Given the description of an element on the screen output the (x, y) to click on. 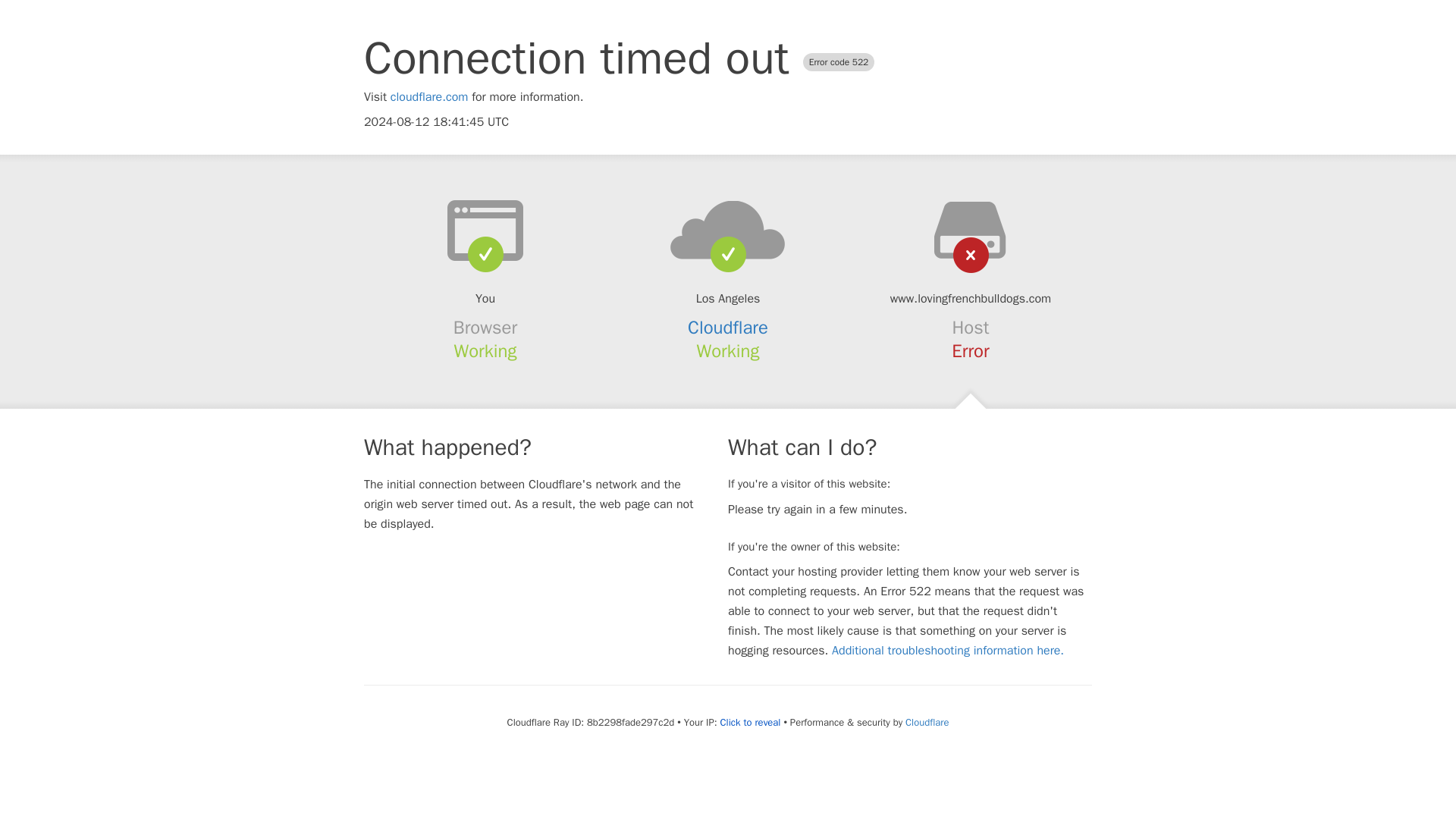
Cloudflare (727, 327)
Click to reveal (750, 722)
Additional troubleshooting information here. (947, 650)
Cloudflare (927, 721)
cloudflare.com (429, 96)
